Given the description of an element on the screen output the (x, y) to click on. 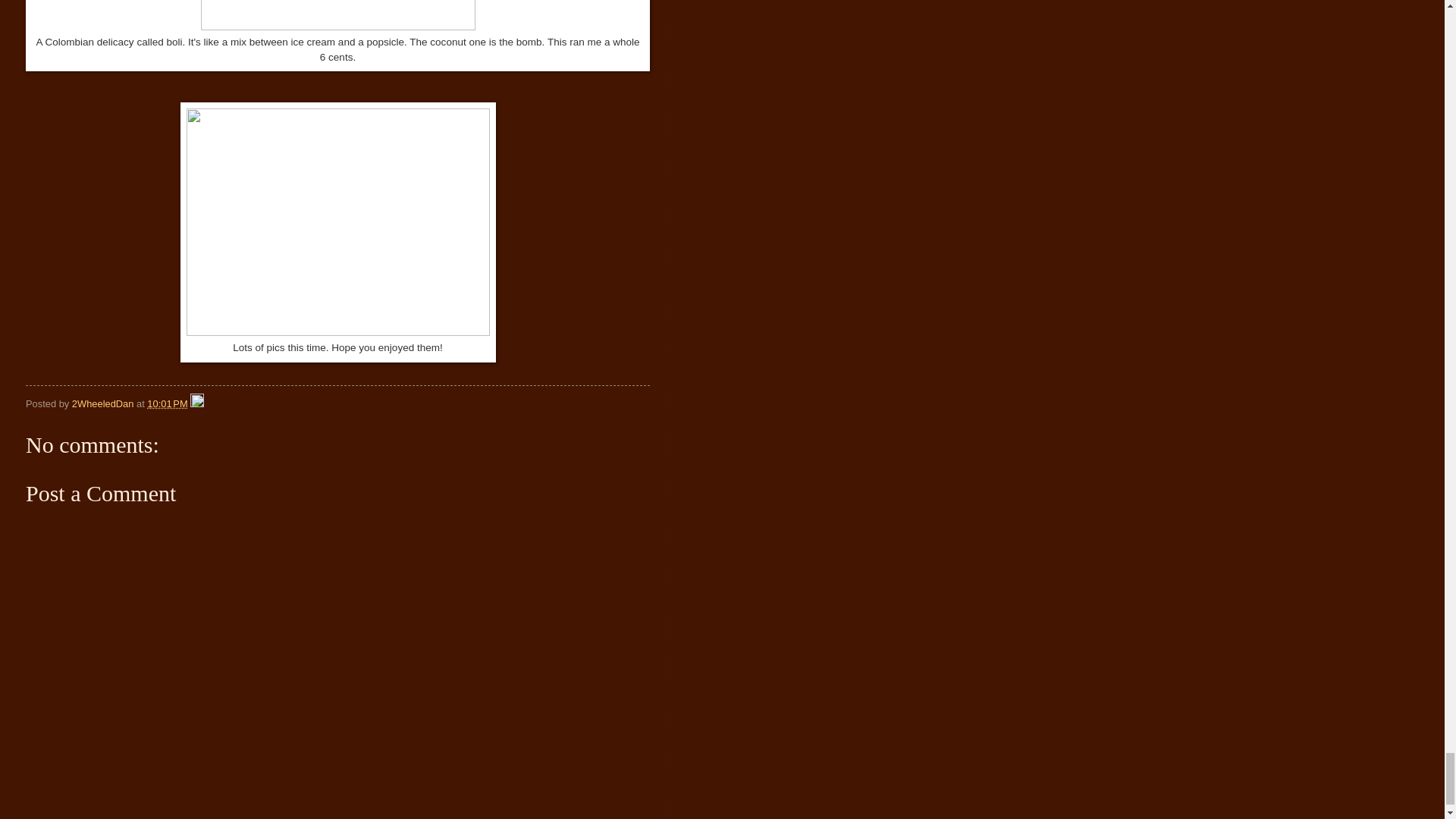
author profile (103, 403)
permanent link (167, 403)
Edit Post (196, 403)
